Given the description of an element on the screen output the (x, y) to click on. 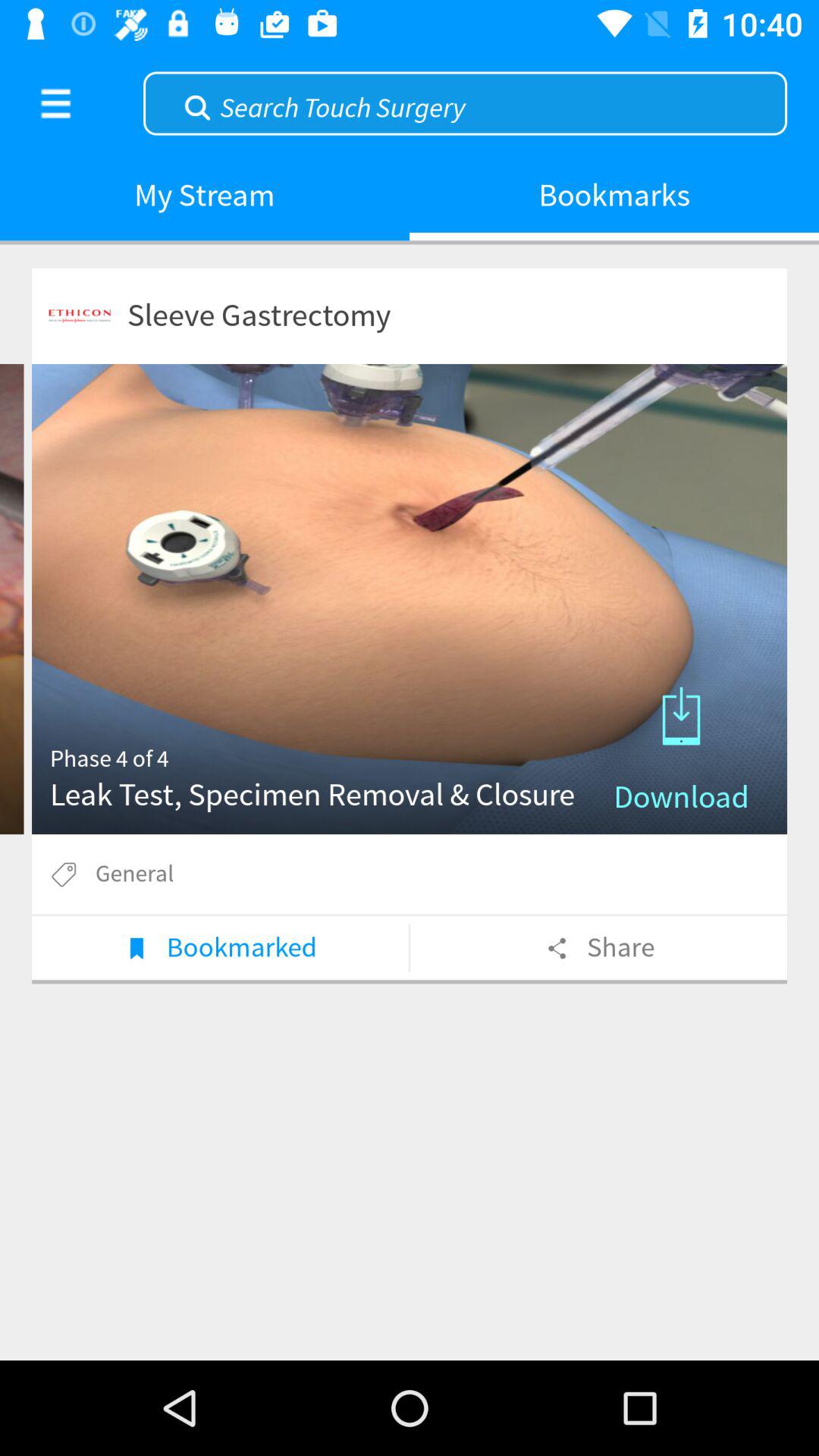
search keywords here (465, 102)
